Given the description of an element on the screen output the (x, y) to click on. 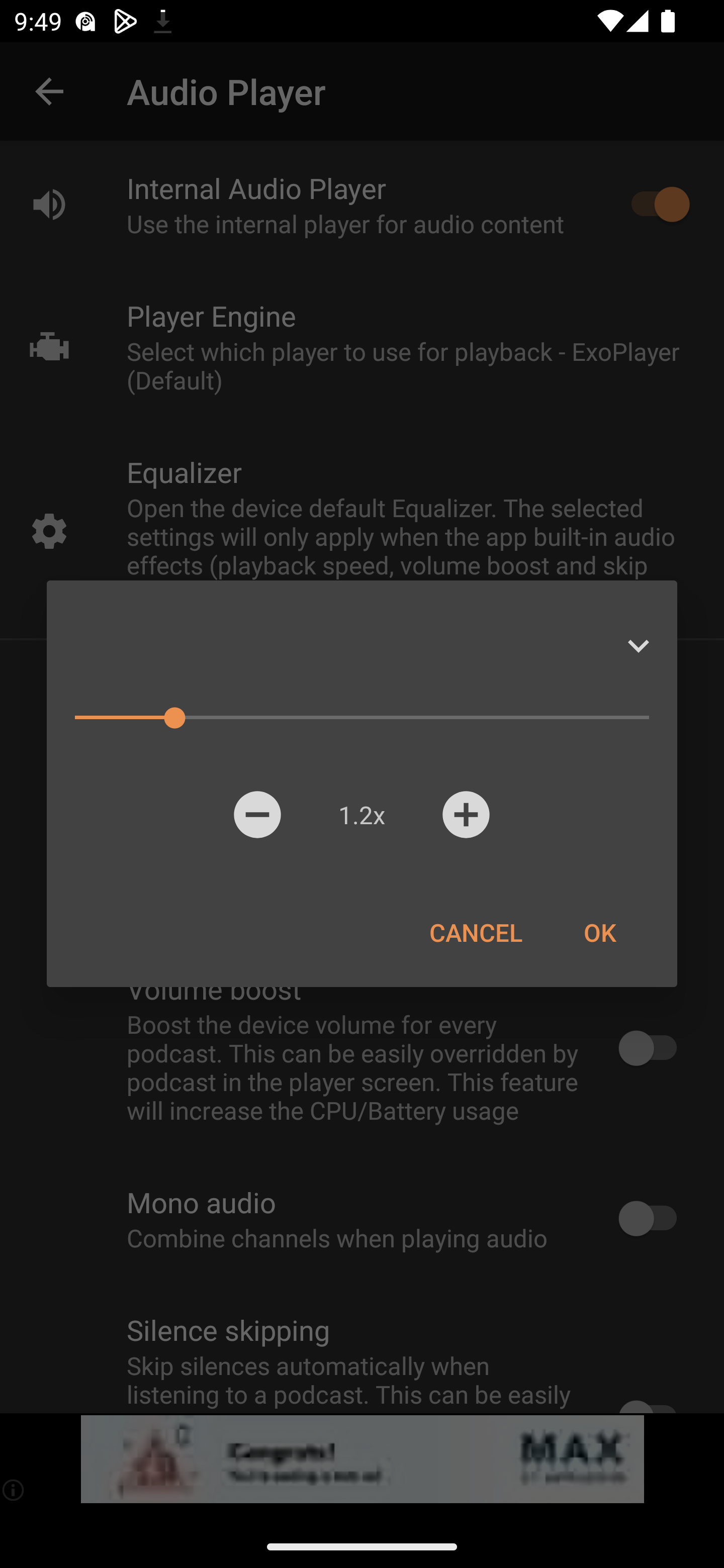
Expand (637, 645)
1.2x (361, 814)
CANCEL (475, 932)
OK (599, 932)
